Given the description of an element on the screen output the (x, y) to click on. 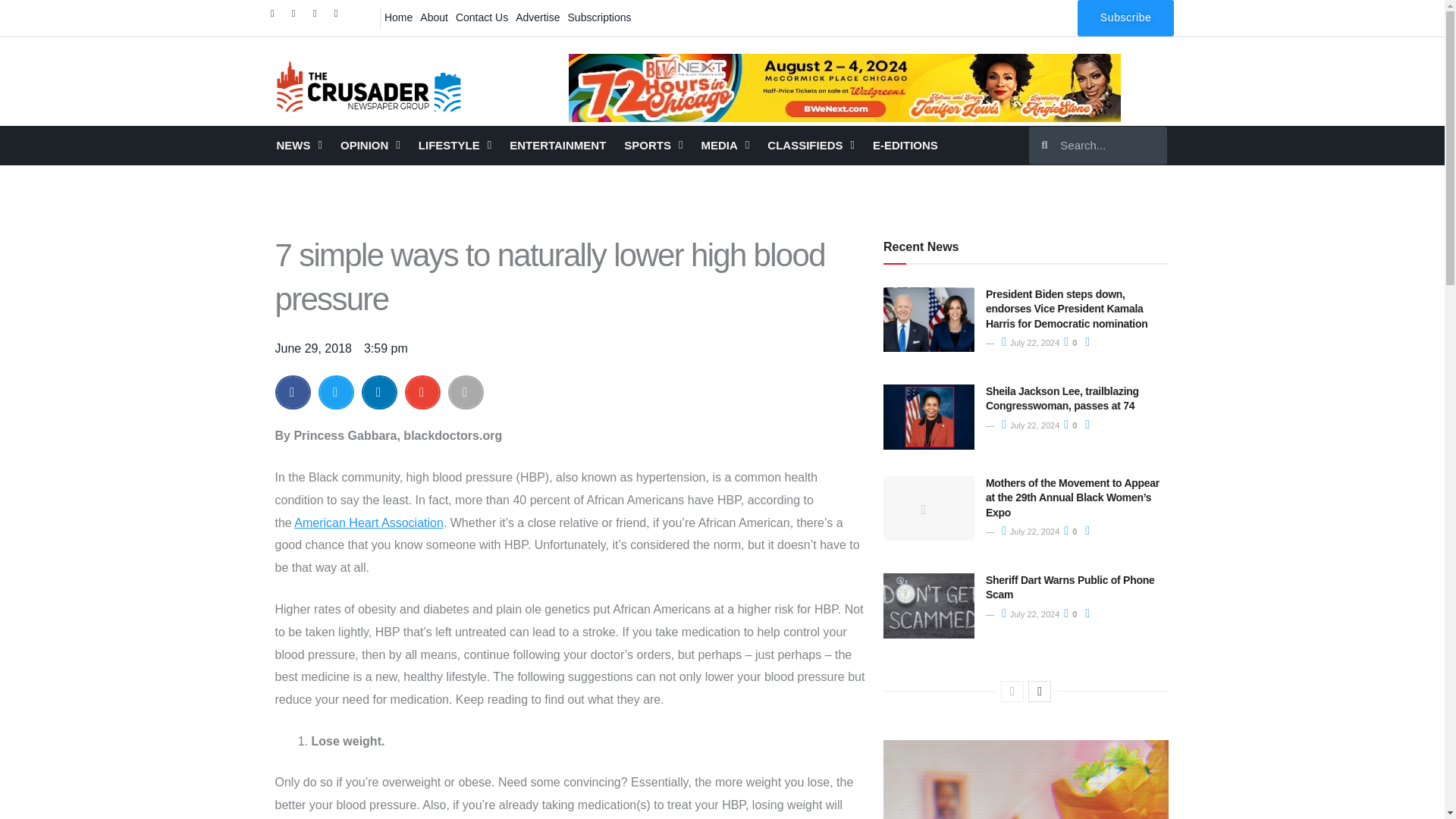
NEWS (298, 145)
Advertise (537, 17)
Subscriptions (599, 17)
OPINION (370, 145)
50th Anniversary-Lottery-RIGHT VERTICAL BANNER (1026, 779)
Subscribe (1125, 18)
Facebook-f (276, 17)
About (433, 17)
Next (1039, 690)
Previous (1012, 690)
Contact Us (481, 17)
LIFESTYLE (454, 145)
Youtube (340, 17)
Instagram (318, 17)
BWE-August 2-4 Line-up- 2024-Mothers of the Movement  (845, 88)
